Given the description of an element on the screen output the (x, y) to click on. 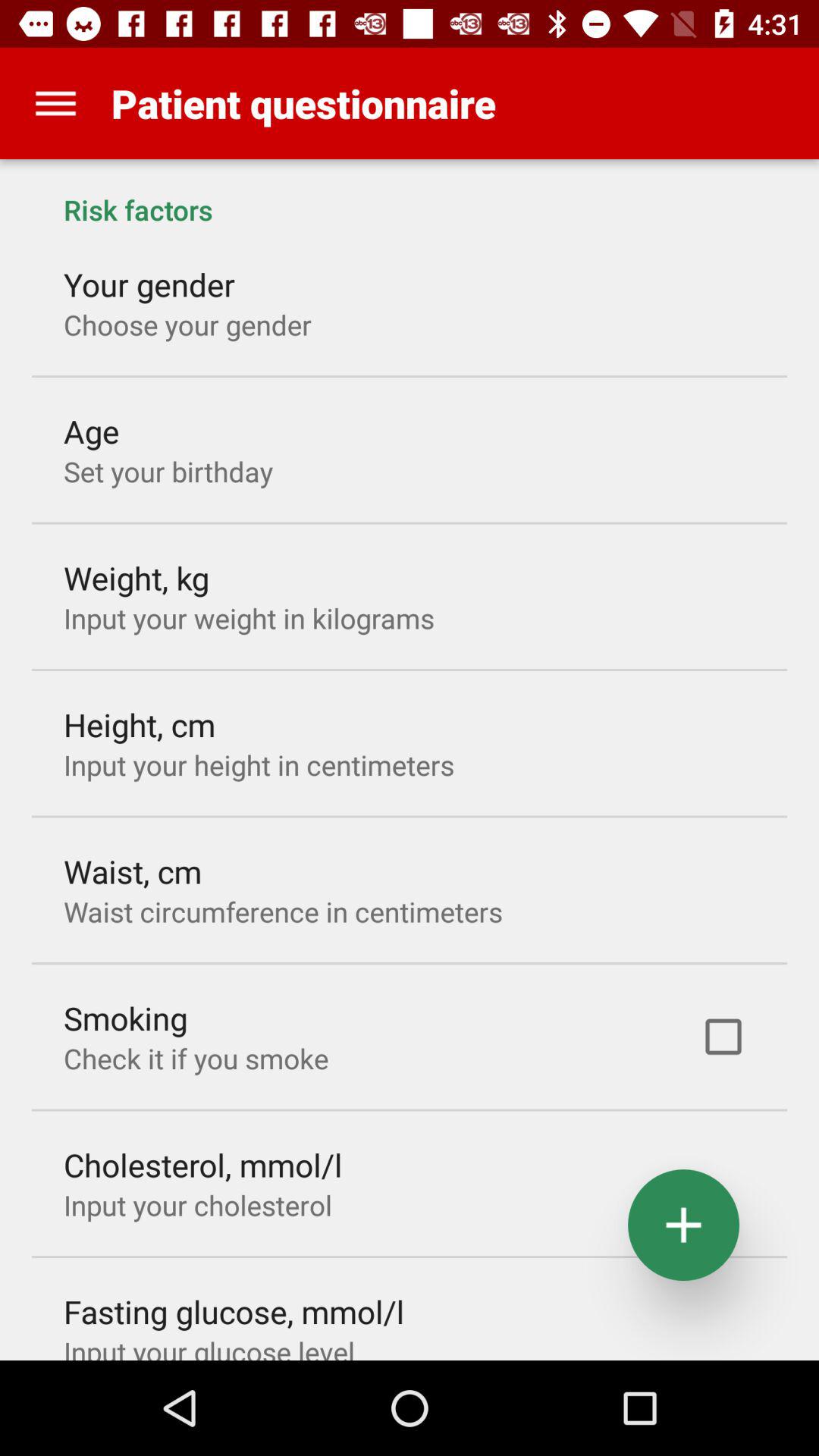
tap app to the left of the patient questionnaire app (55, 103)
